Given the description of an element on the screen output the (x, y) to click on. 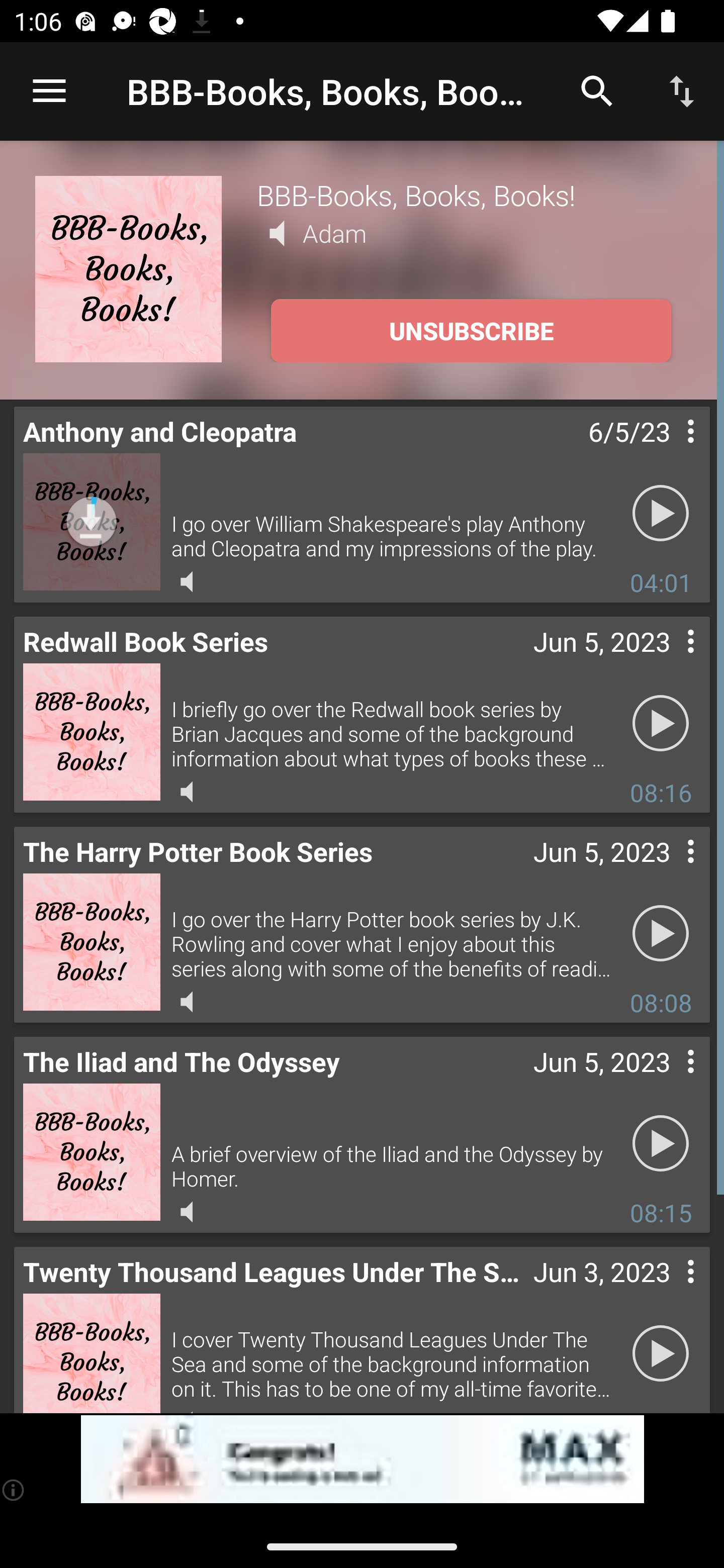
Open navigation sidebar (49, 91)
Search (597, 90)
Sort (681, 90)
UNSUBSCRIBE (470, 330)
Contextual menu (668, 451)
Play (660, 513)
Contextual menu (668, 661)
Play (660, 723)
Contextual menu (668, 870)
Play (660, 933)
Contextual menu (668, 1080)
Play (660, 1143)
Contextual menu (668, 1290)
Play (660, 1353)
app-monetization (362, 1459)
(i) (14, 1489)
